Given the description of an element on the screen output the (x, y) to click on. 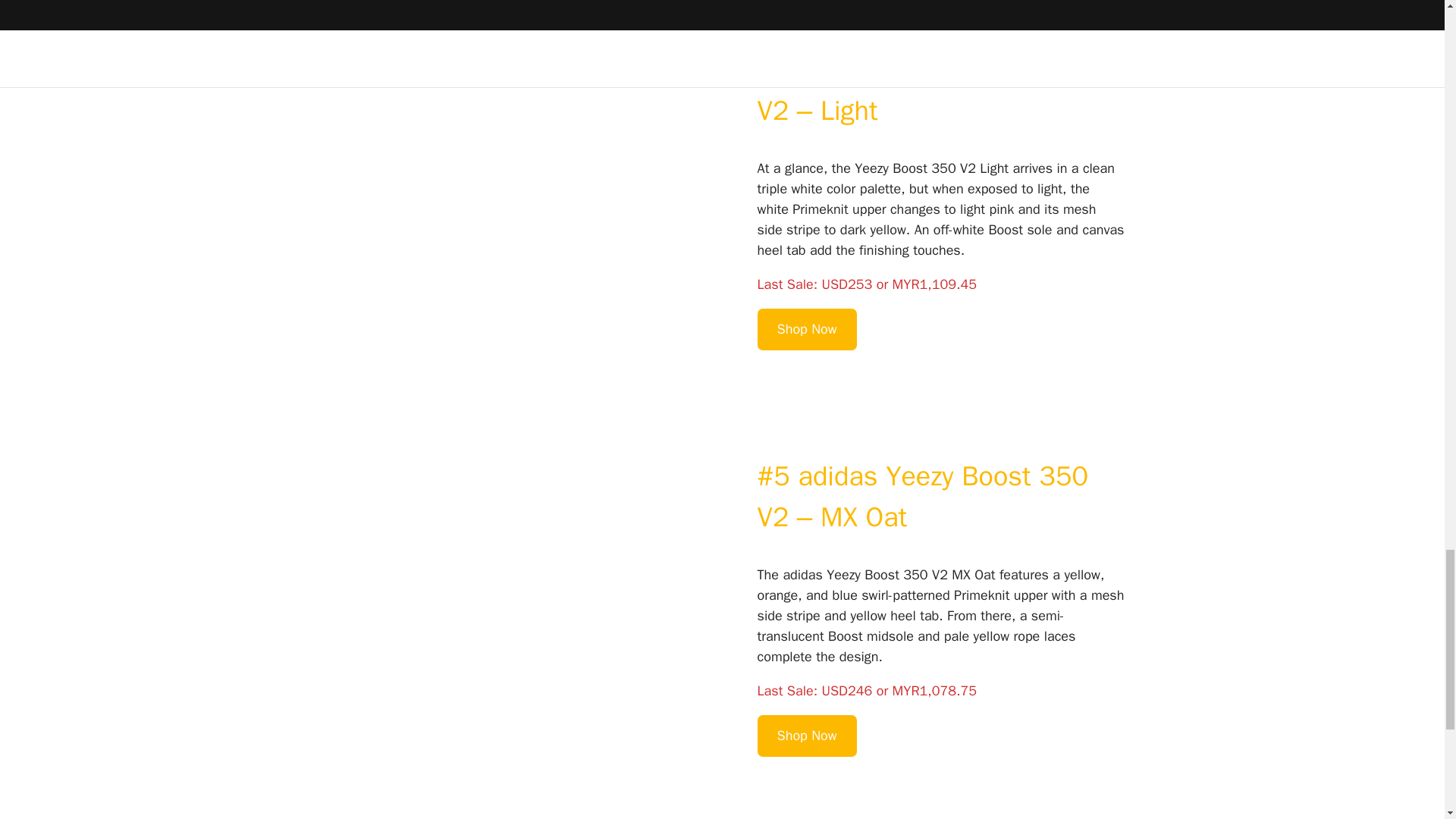
Shop Now (807, 735)
Shop Now (807, 328)
